Given the description of an element on the screen output the (x, y) to click on. 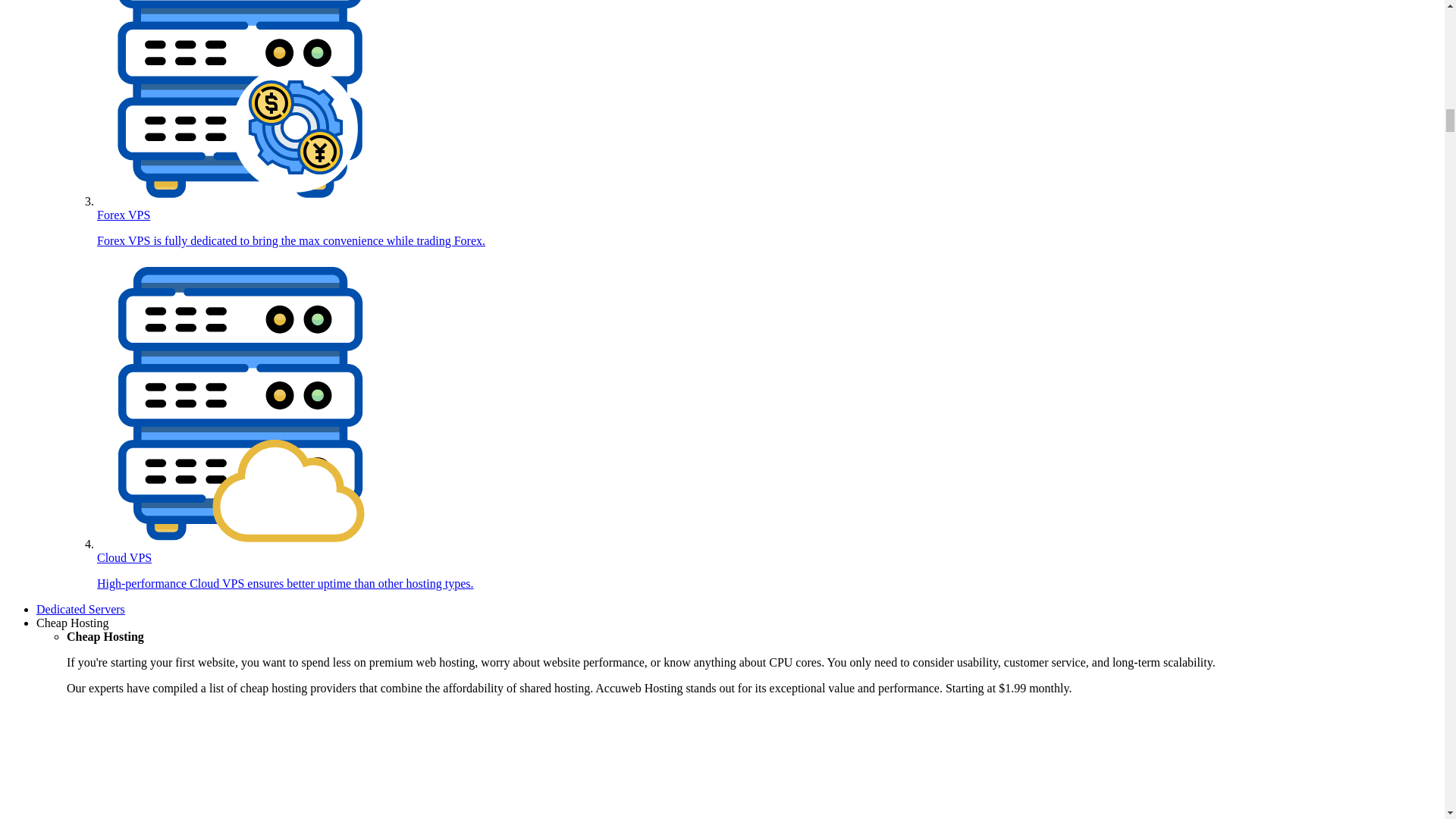
Cheap Hosting (72, 622)
Filter All Dedicated Servers Plans (80, 608)
Dedicated Servers (80, 608)
